Given the description of an element on the screen output the (x, y) to click on. 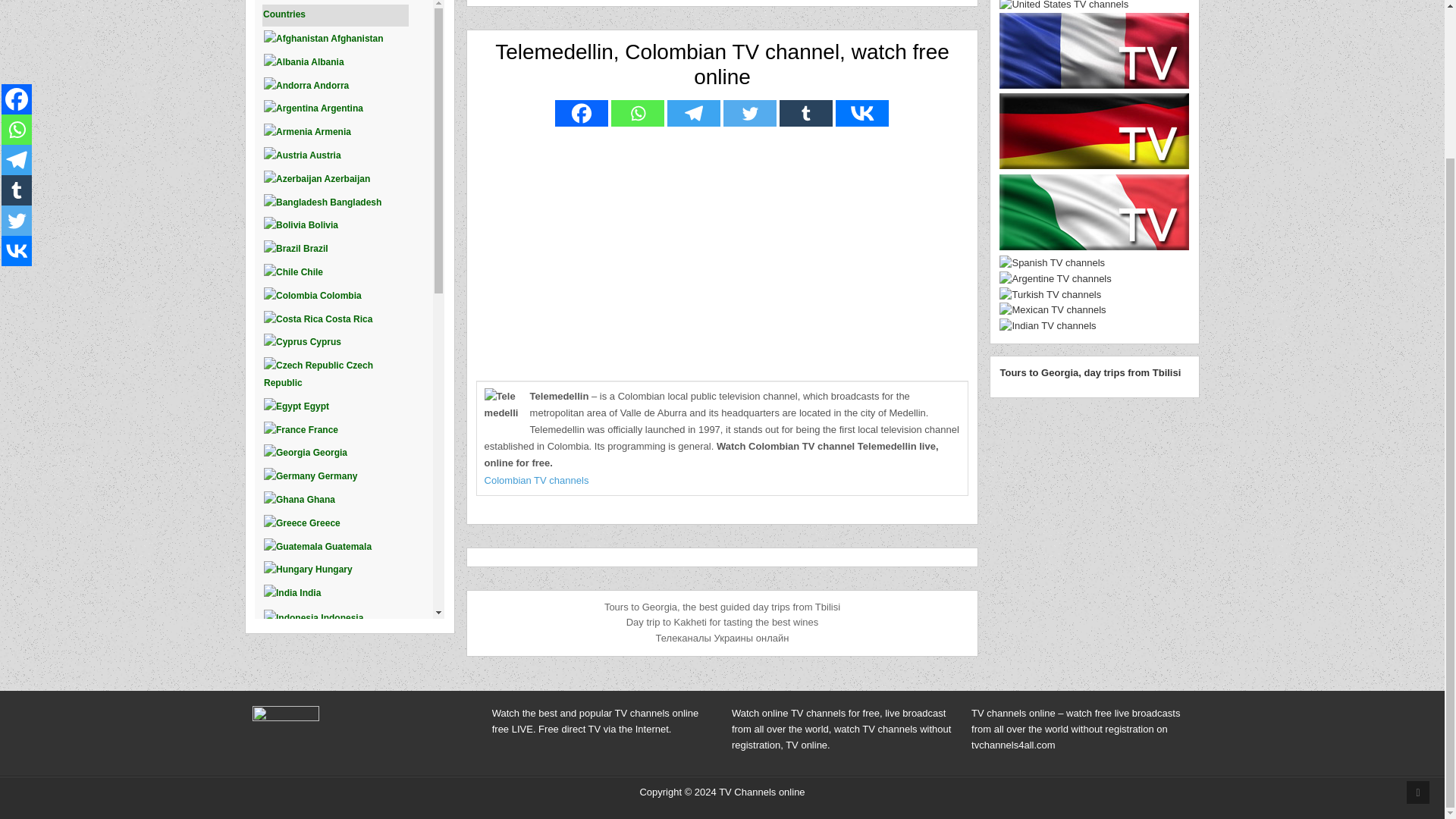
Facebook (581, 112)
Telemedellin, Colombian TV channel, watch free online (722, 64)
Twitter (16, 34)
Colombian TV channels (536, 480)
Whatsapp (637, 112)
Scroll to Top (1417, 606)
Tumblr (805, 112)
Colombian TV channels (536, 480)
Day trip to Kakheti for tasting the best wines (722, 622)
Vkontakte (16, 64)
